Given the description of an element on the screen output the (x, y) to click on. 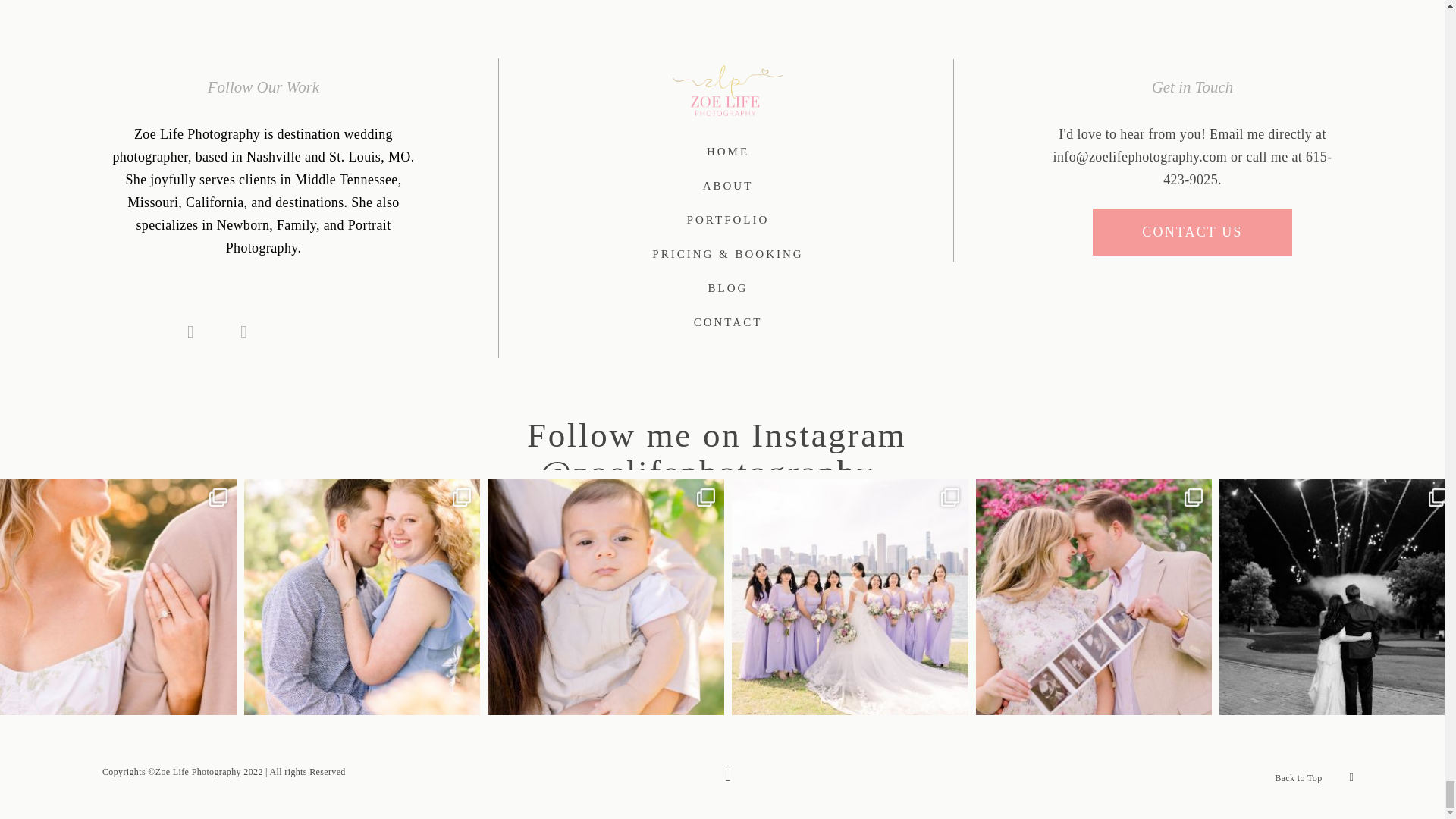
PORTFOLIO (728, 220)
Back to Top (1298, 777)
HOME (727, 151)
BLOG (727, 288)
ABOUT (728, 185)
Back to Top (1314, 775)
CONTACT (728, 322)
CONTACT US (1192, 232)
